Given the description of an element on the screen output the (x, y) to click on. 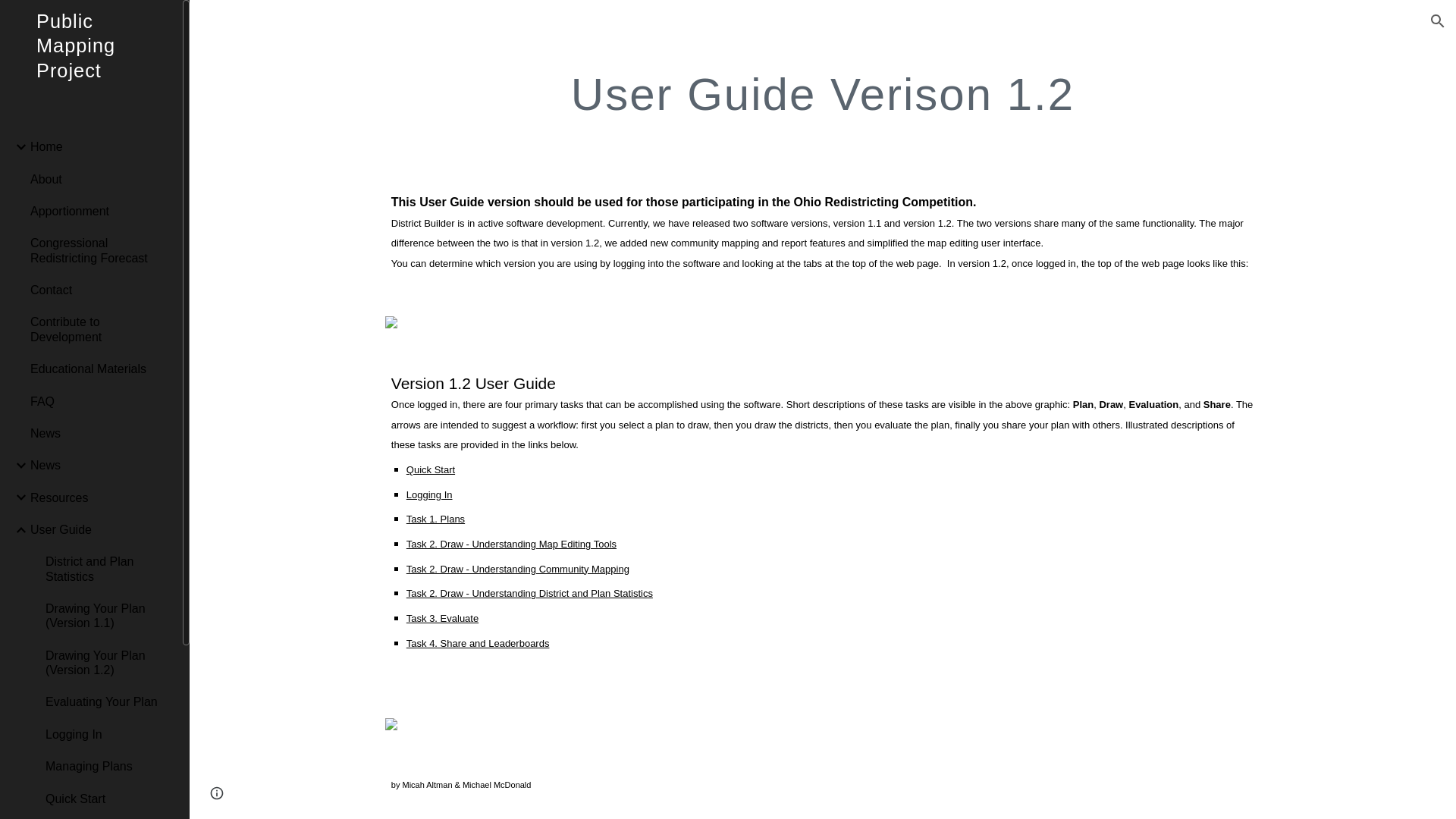
Public Mapping Project (91, 65)
News (100, 432)
FAQ (100, 400)
Contribute to Development (100, 329)
Congressional Redistricting Forecast (100, 250)
Educational Materials (100, 368)
News (100, 465)
About (100, 178)
Home (100, 146)
Apportionment (100, 210)
